Given the description of an element on the screen output the (x, y) to click on. 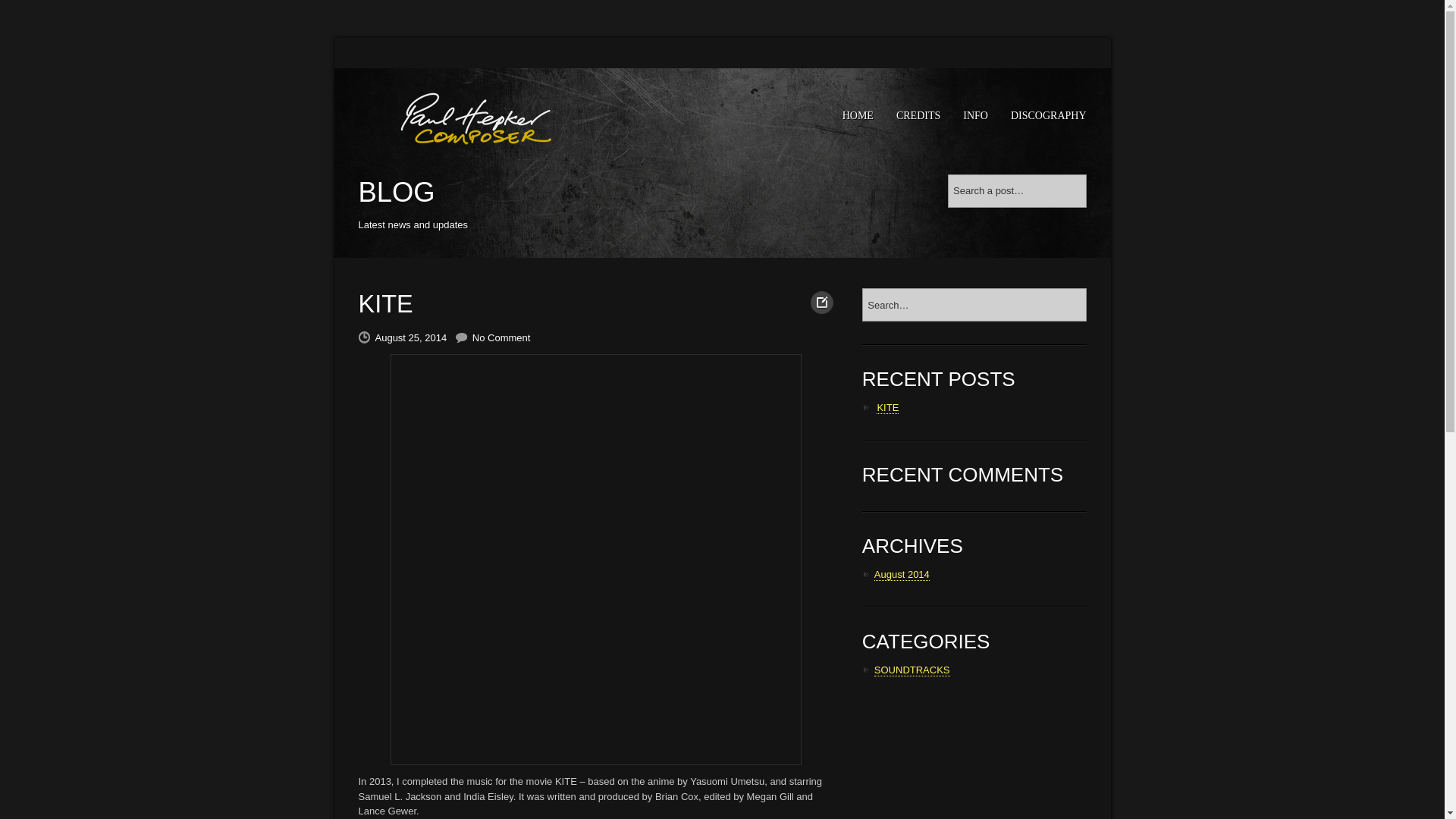
HOME (858, 115)
DISCOGRAPHY (1048, 115)
INFO (975, 115)
Submit (388, 13)
CREDITS (918, 115)
No Comment (501, 337)
No Comment (501, 337)
Comment on KITE (501, 337)
